Given the description of an element on the screen output the (x, y) to click on. 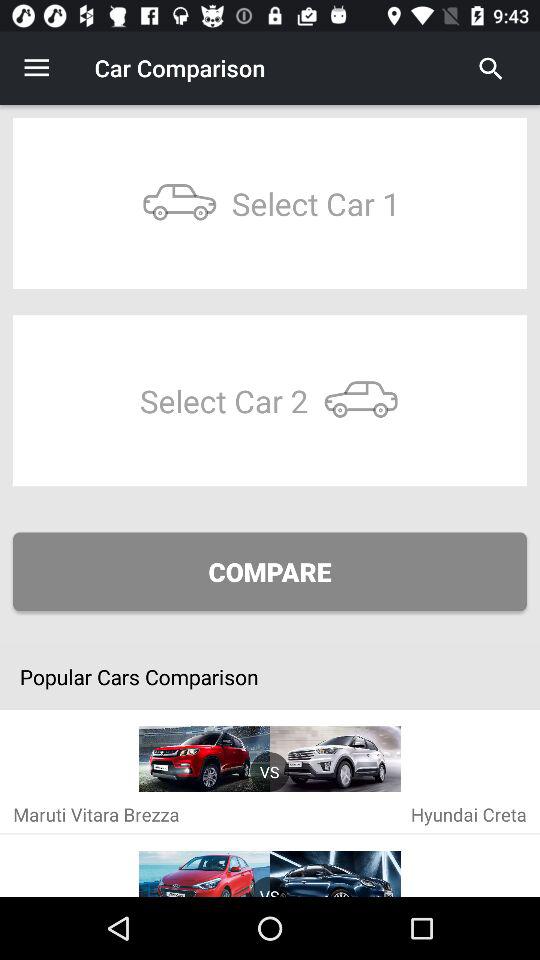
search for car (491, 68)
